Given the description of an element on the screen output the (x, y) to click on. 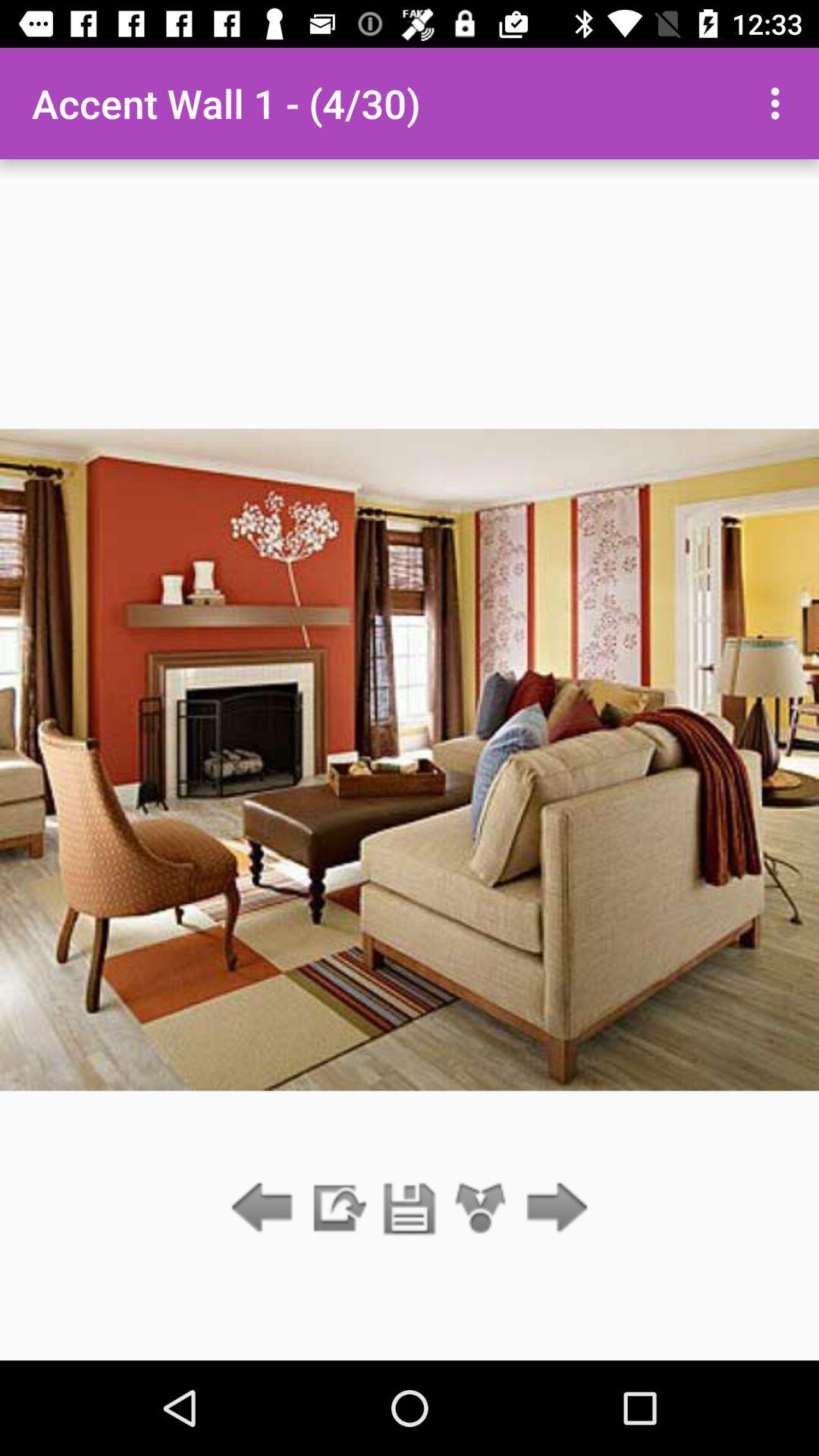
go back (266, 1209)
